Given the description of an element on the screen output the (x, y) to click on. 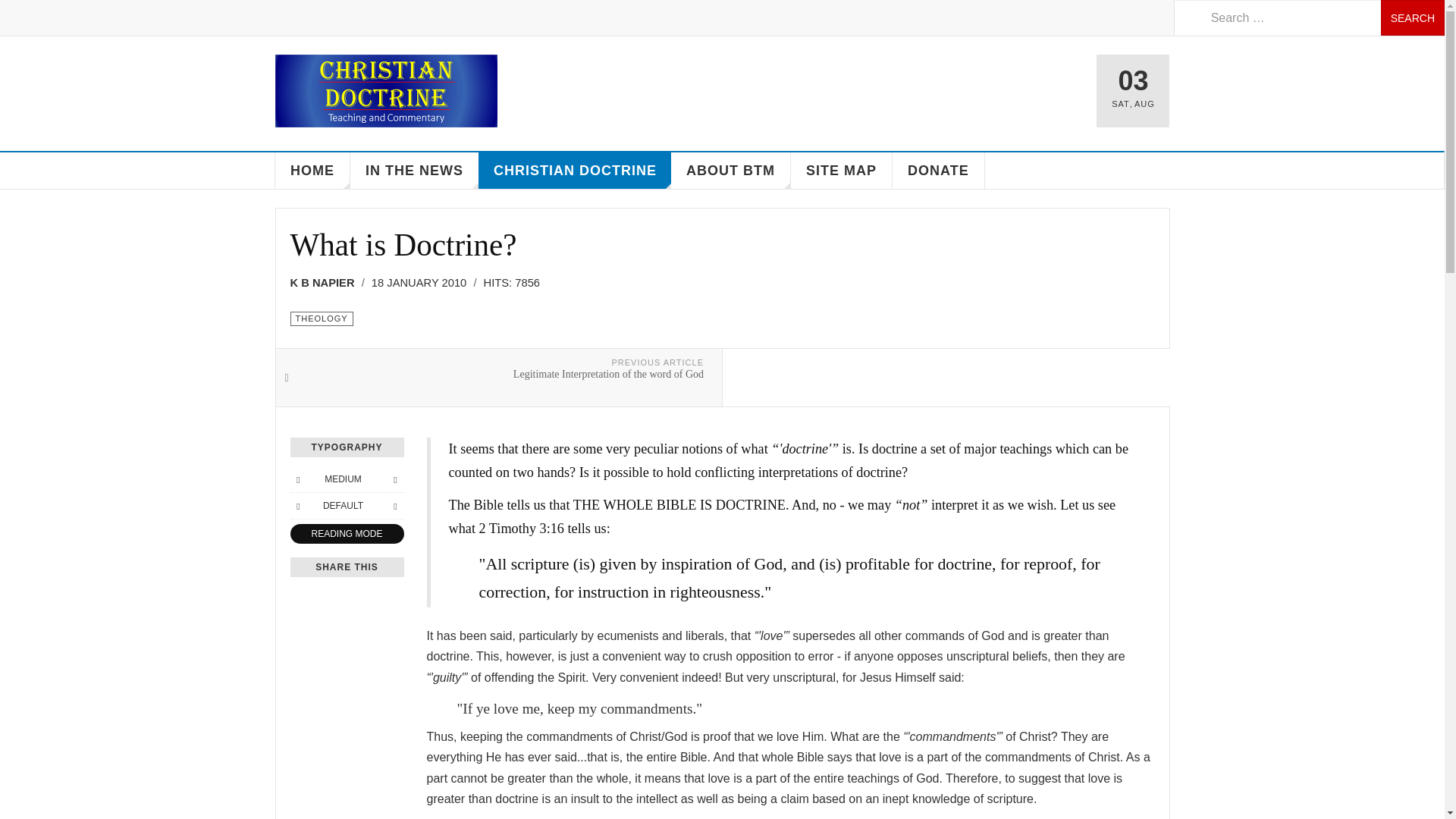
Category:  (320, 318)
Next Font Style (395, 505)
Published:  (424, 282)
Bigger Font (395, 478)
Reading Mode (346, 534)
Written by:  (326, 282)
Christian Doctrine from Bible Theology Ministries UK (385, 90)
What is Doctrine? (402, 244)
Smaller Font (297, 478)
Previous Font Style (297, 505)
